Given the description of an element on the screen output the (x, y) to click on. 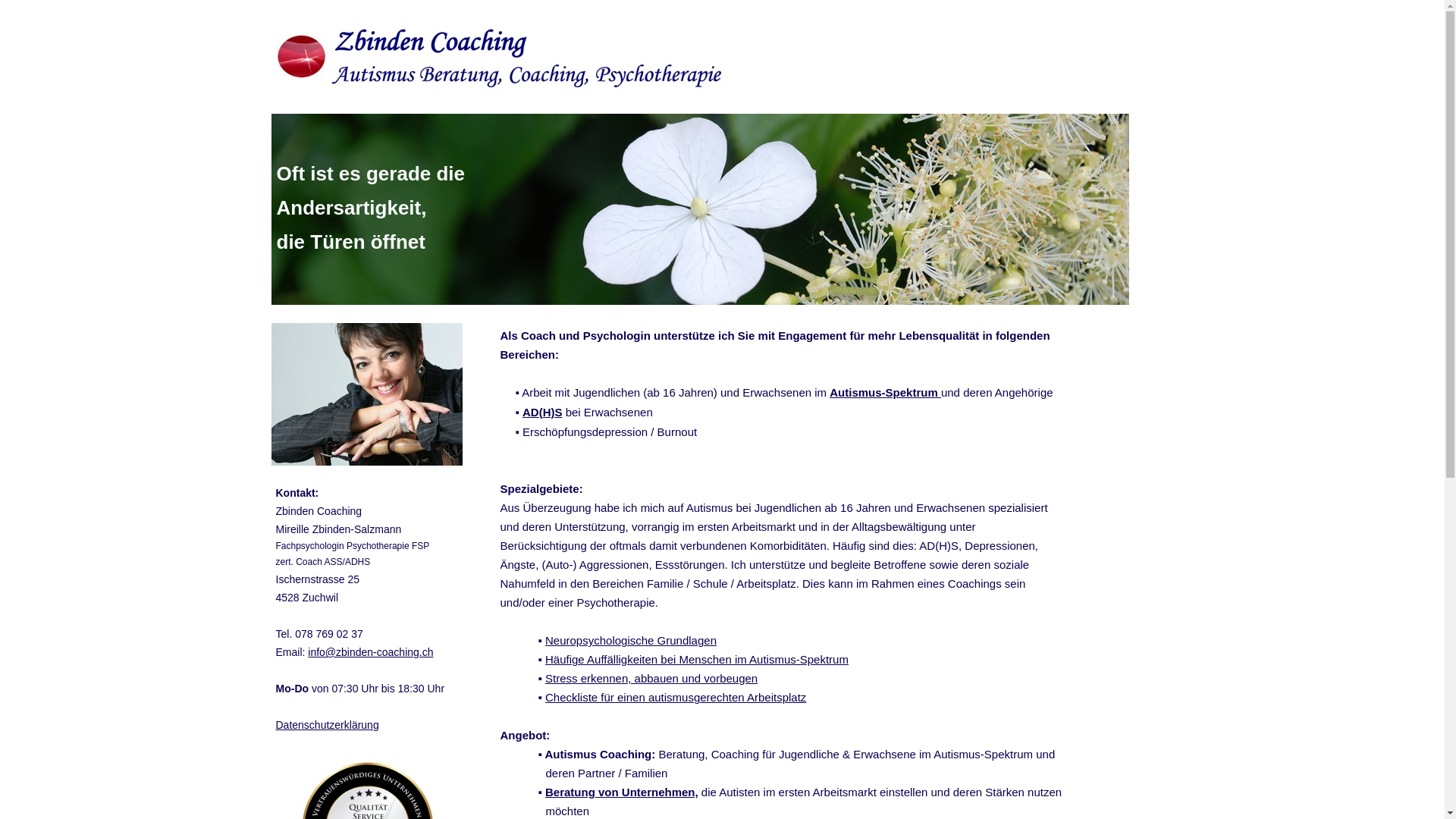
Stress erkennen, abbauen und vorbeugen Element type: text (651, 677)
AD(H)S Element type: text (542, 411)
Beratung von Unternehmen, Element type: text (621, 791)
die Element type: text (708, 791)
Neuropsychologische Grundlagen Element type: text (630, 639)
Autismus-Spektrum Element type: text (885, 391)
info@zbinden-coaching.ch Element type: text (370, 652)
